Given the description of an element on the screen output the (x, y) to click on. 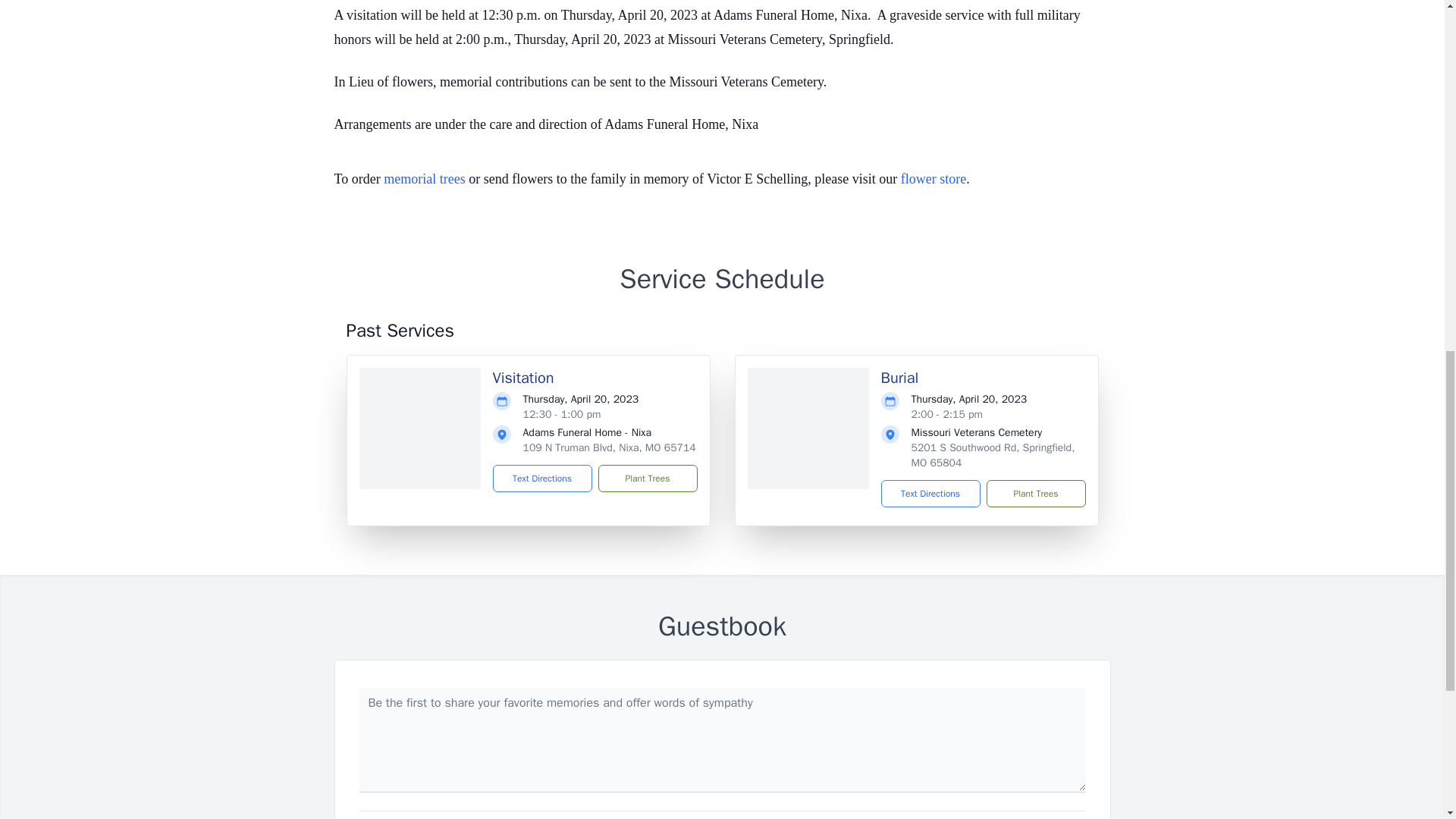
Plant Trees (1034, 492)
Plant Trees (646, 478)
flower store (933, 178)
Text Directions (542, 478)
5201 S Southwood Rd, Springfield, MO 65804 (993, 455)
memorial trees (424, 178)
Text Directions (929, 492)
109 N Truman Blvd, Nixa, MO 65714 (608, 447)
